Given the description of an element on the screen output the (x, y) to click on. 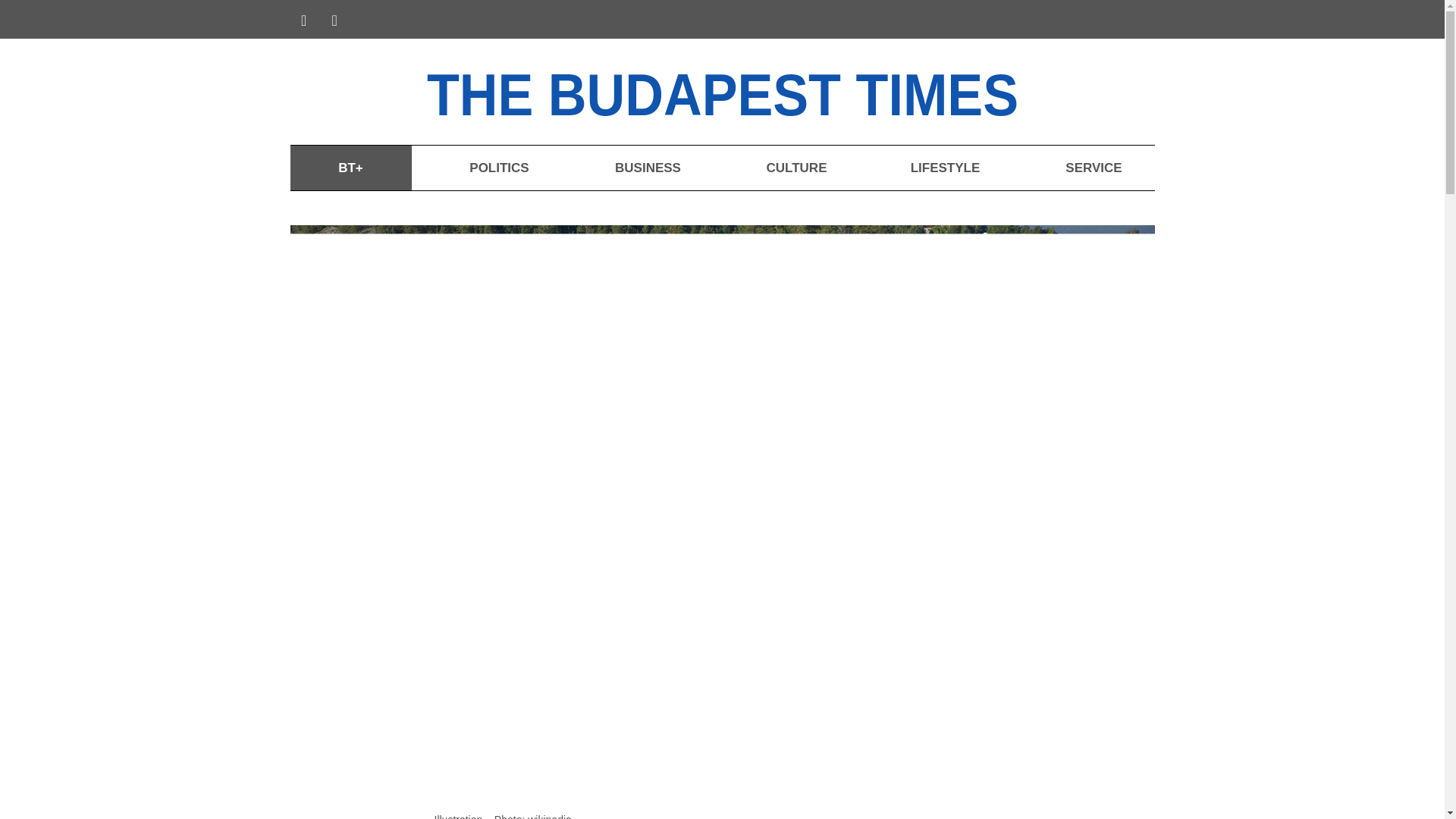
THE BUDAPEST TIMES (765, 91)
BUSINESS (646, 167)
CULTURE (796, 167)
Login (1131, 20)
SERVICE (1093, 167)
POLITICS (498, 167)
LIFESTYLE (944, 167)
